Given the description of an element on the screen output the (x, y) to click on. 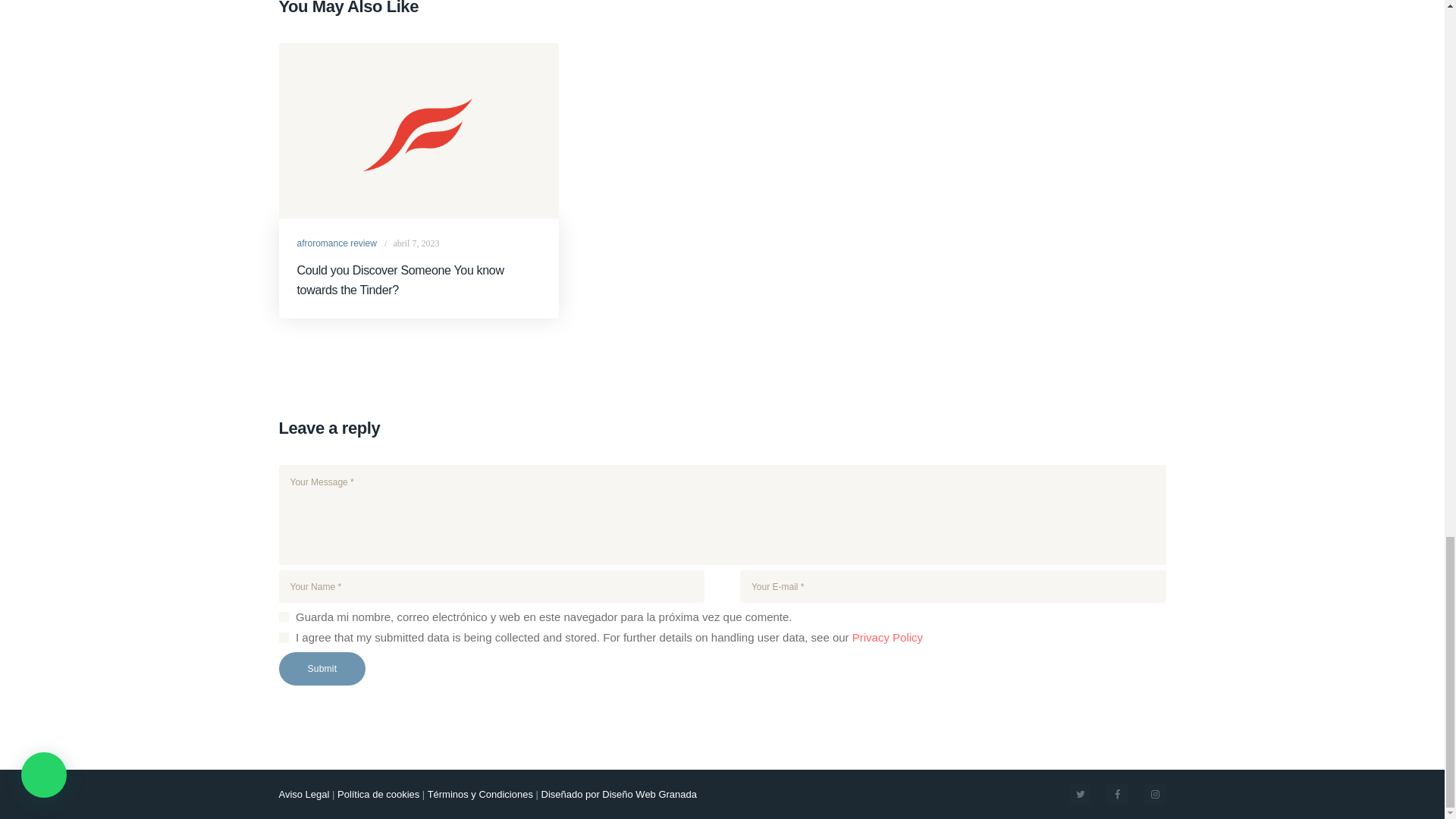
afroromance review (337, 243)
View all posts in afroromance review (337, 243)
Submit (322, 668)
